Given the description of an element on the screen output the (x, y) to click on. 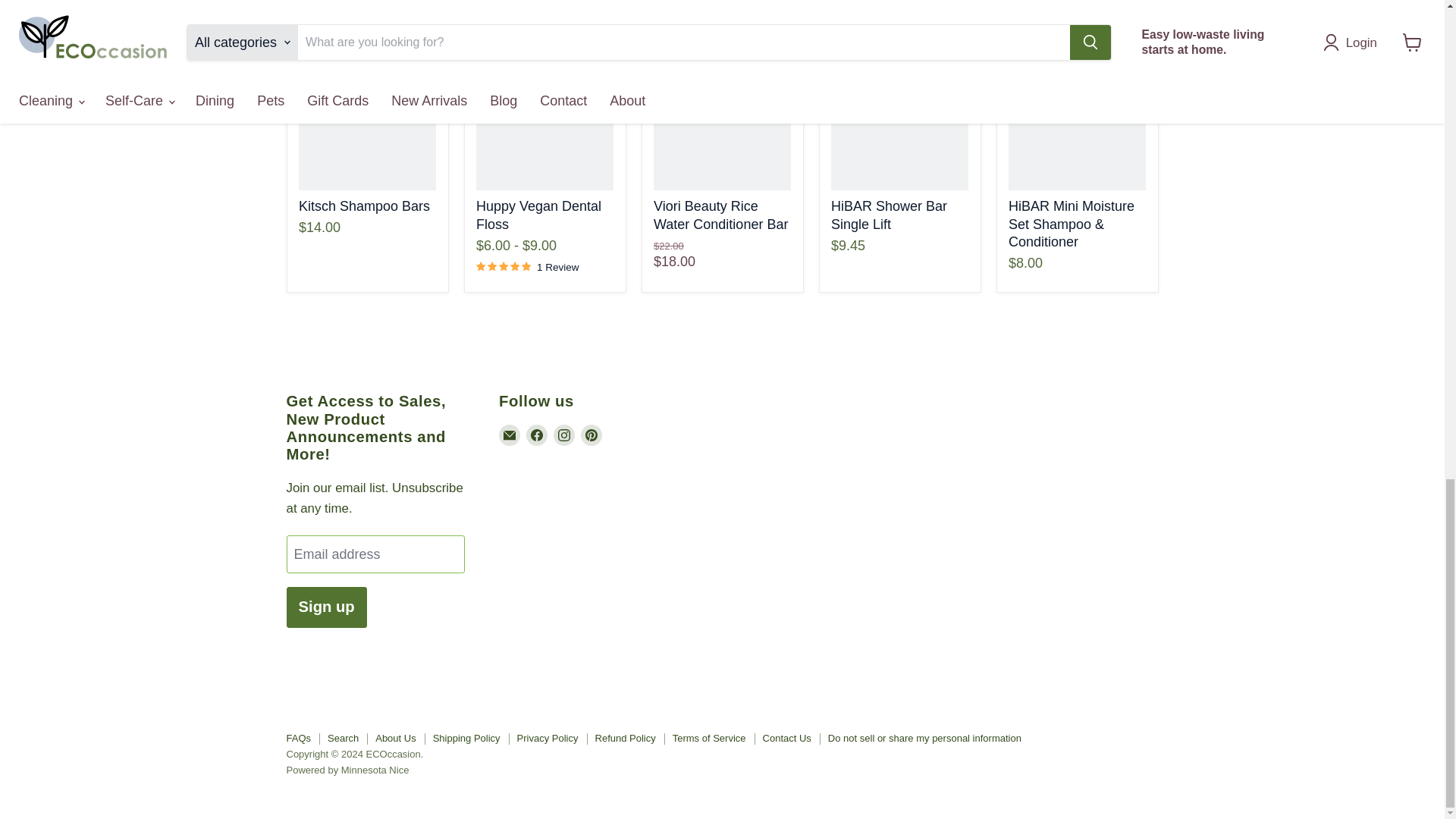
E-mail (509, 435)
Pinterest (591, 435)
Instagram (564, 435)
Facebook (536, 435)
